Given the description of an element on the screen output the (x, y) to click on. 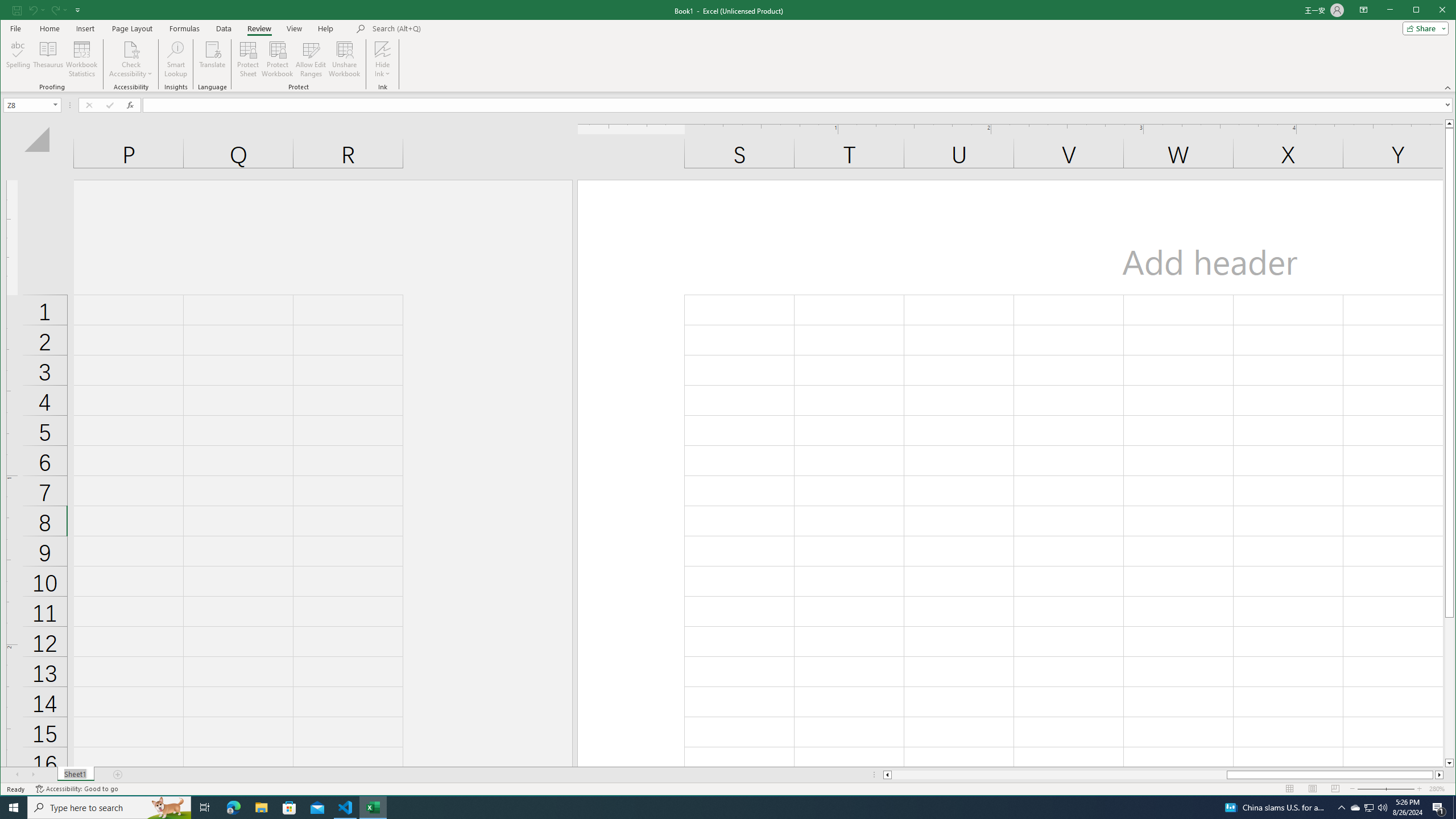
Start (13, 807)
Check Accessibility (130, 48)
Workbook Statistics (82, 59)
Excel - 1 running window (373, 807)
Page left (1059, 774)
Notification Chevron (1341, 807)
File Explorer (261, 807)
Show desktop (1454, 807)
